Given the description of an element on the screen output the (x, y) to click on. 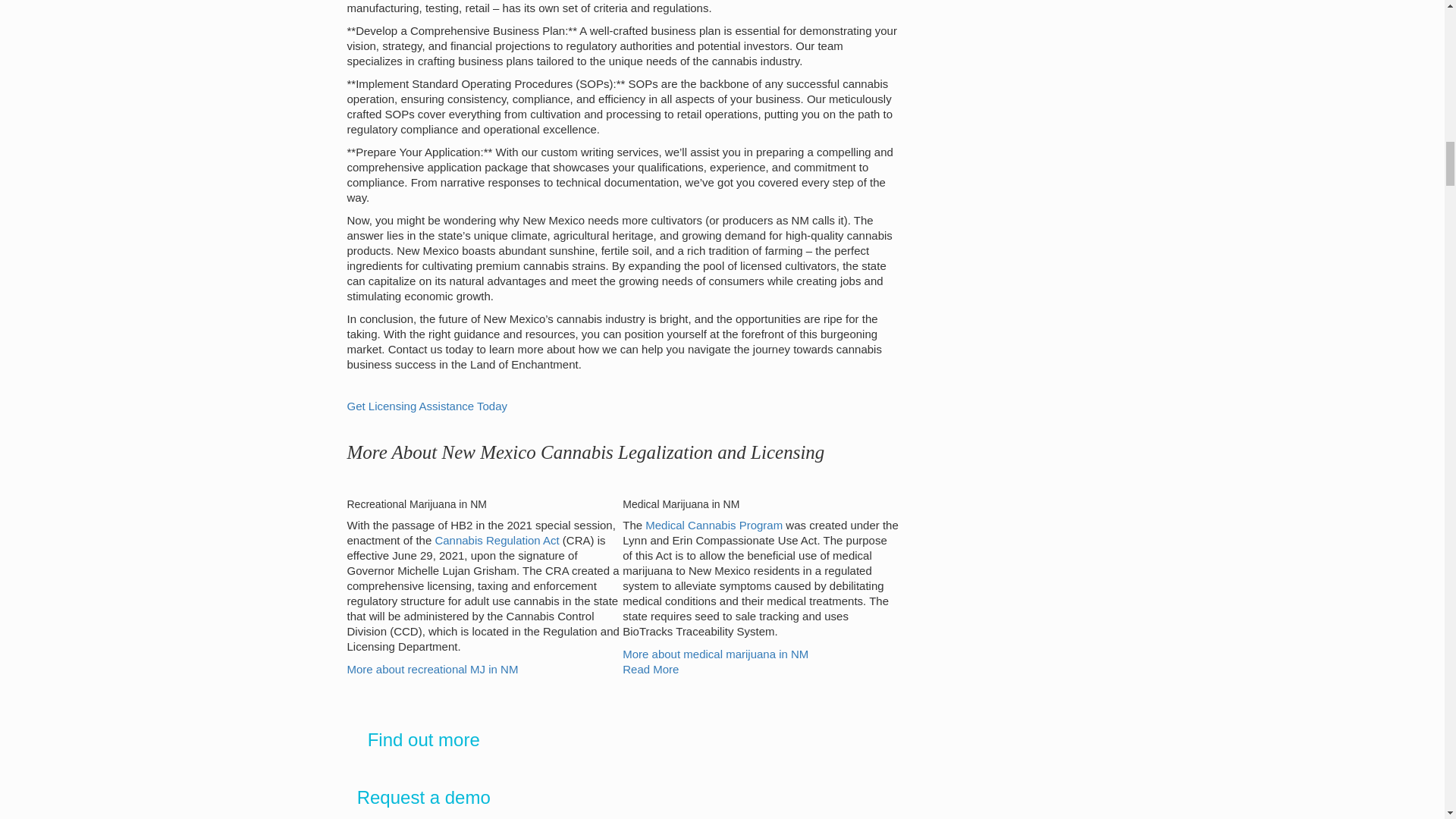
Cannabis Regulation Act (496, 540)
Request a demo (423, 797)
More about medical marijuana in NM (715, 653)
Medical Cannabis Program (714, 524)
Read More (650, 668)
Find out more (424, 739)
Get Licensing Assistance Today (427, 405)
More about recreational MJ in NM (432, 668)
